Given the description of an element on the screen output the (x, y) to click on. 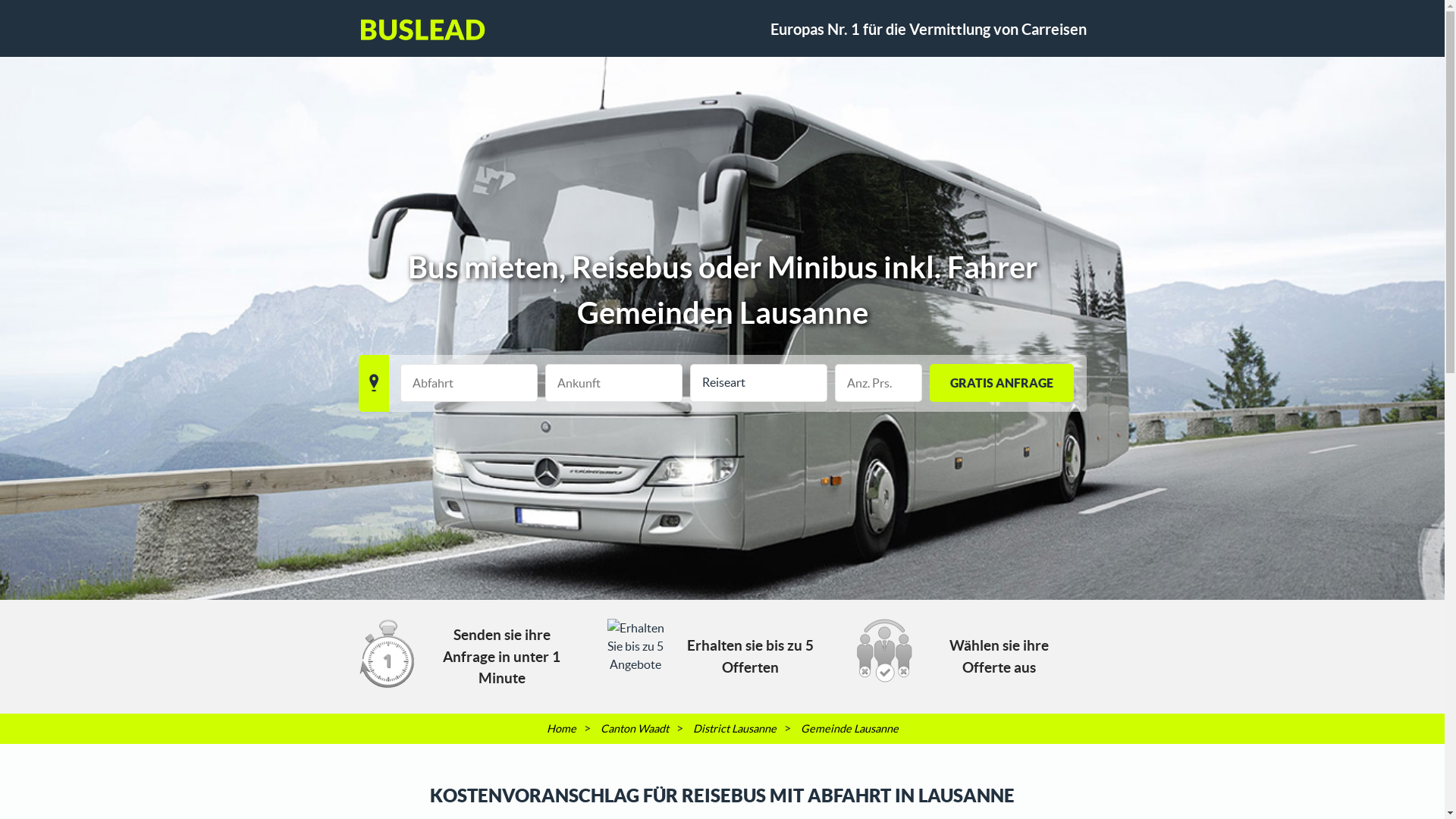
Buslead DE Element type: text (421, 29)
Canton Waadt Element type: text (634, 728)
GRATIS ANFRAGE Element type: text (1001, 382)
Gemeinde Lausanne Element type: text (849, 728)
District Lausanne Element type: text (734, 728)
Home Element type: text (560, 728)
